Given the description of an element on the screen output the (x, y) to click on. 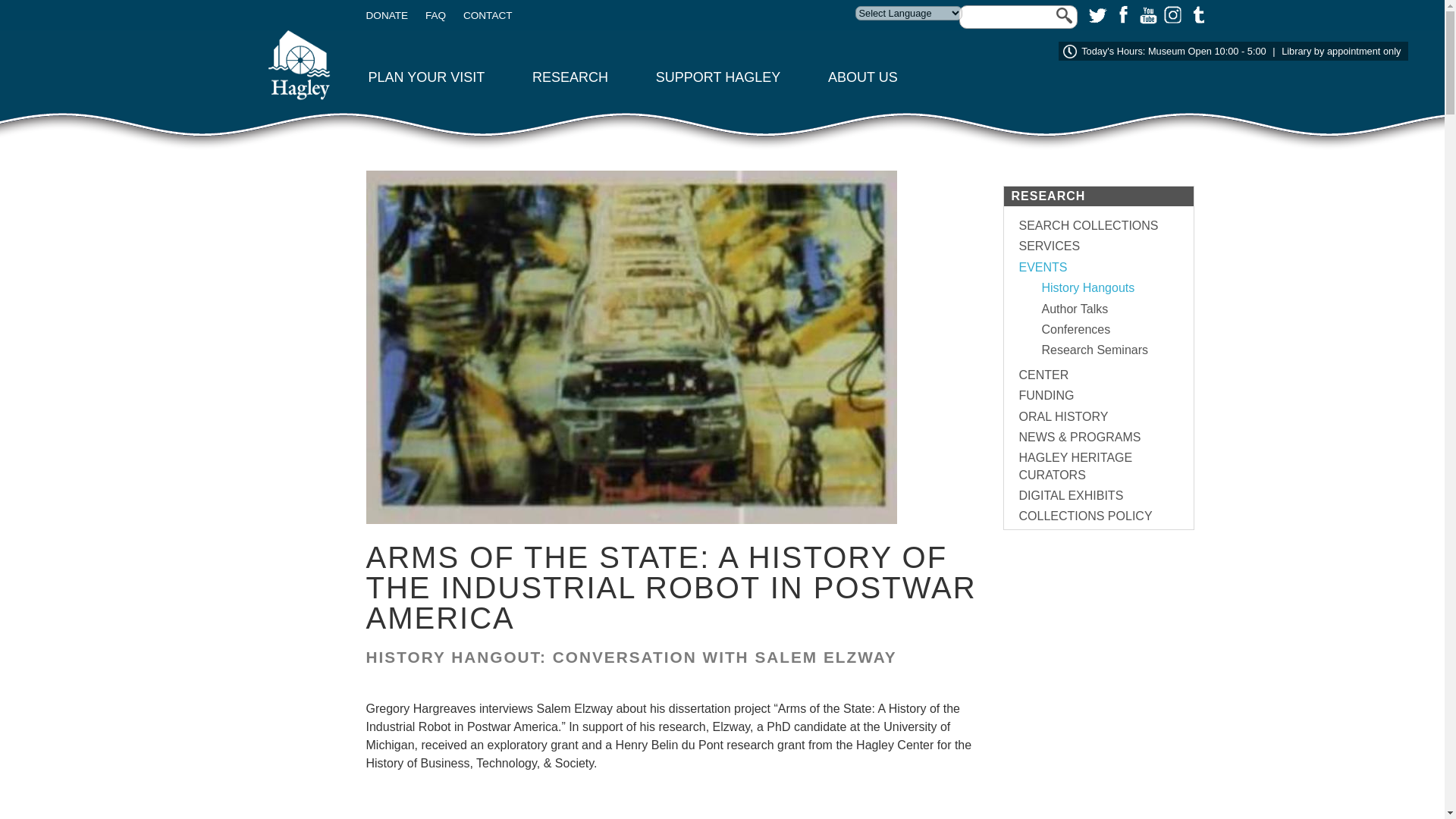
Facebook (1120, 13)
FAQ (435, 15)
Twitter (1096, 13)
Tumblr (1196, 13)
ABOUT US (863, 77)
Skip to main content (34, 0)
SUPPORT HAGLEY (718, 77)
Enter the terms you wish to search for. (1018, 16)
YouTube (1146, 13)
Instagram (1171, 13)
YouTube (1146, 13)
Search (18, 6)
Facebook (1120, 13)
DONATE (386, 15)
PLAN YOUR VISIT (426, 77)
